Given the description of an element on the screen output the (x, y) to click on. 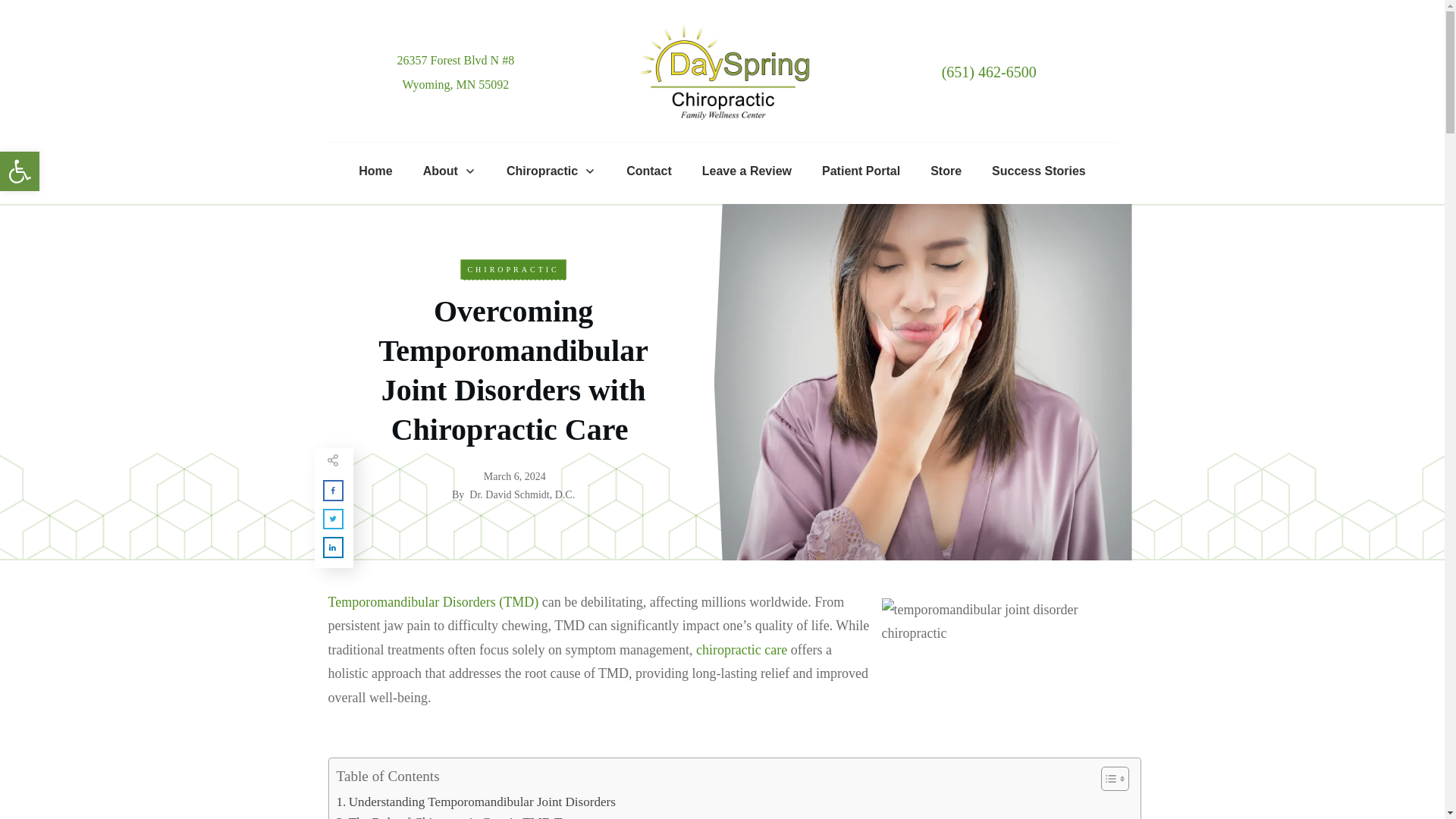
Patient Portal (860, 170)
Accessibility Tools (19, 170)
CHIROPRACTIC (513, 269)
Store (945, 170)
Chiropractic (550, 170)
Success Stories (1038, 170)
chiropractic care (741, 649)
About (449, 170)
Wyoming, MN 55092 (19, 170)
